Given the description of an element on the screen output the (x, y) to click on. 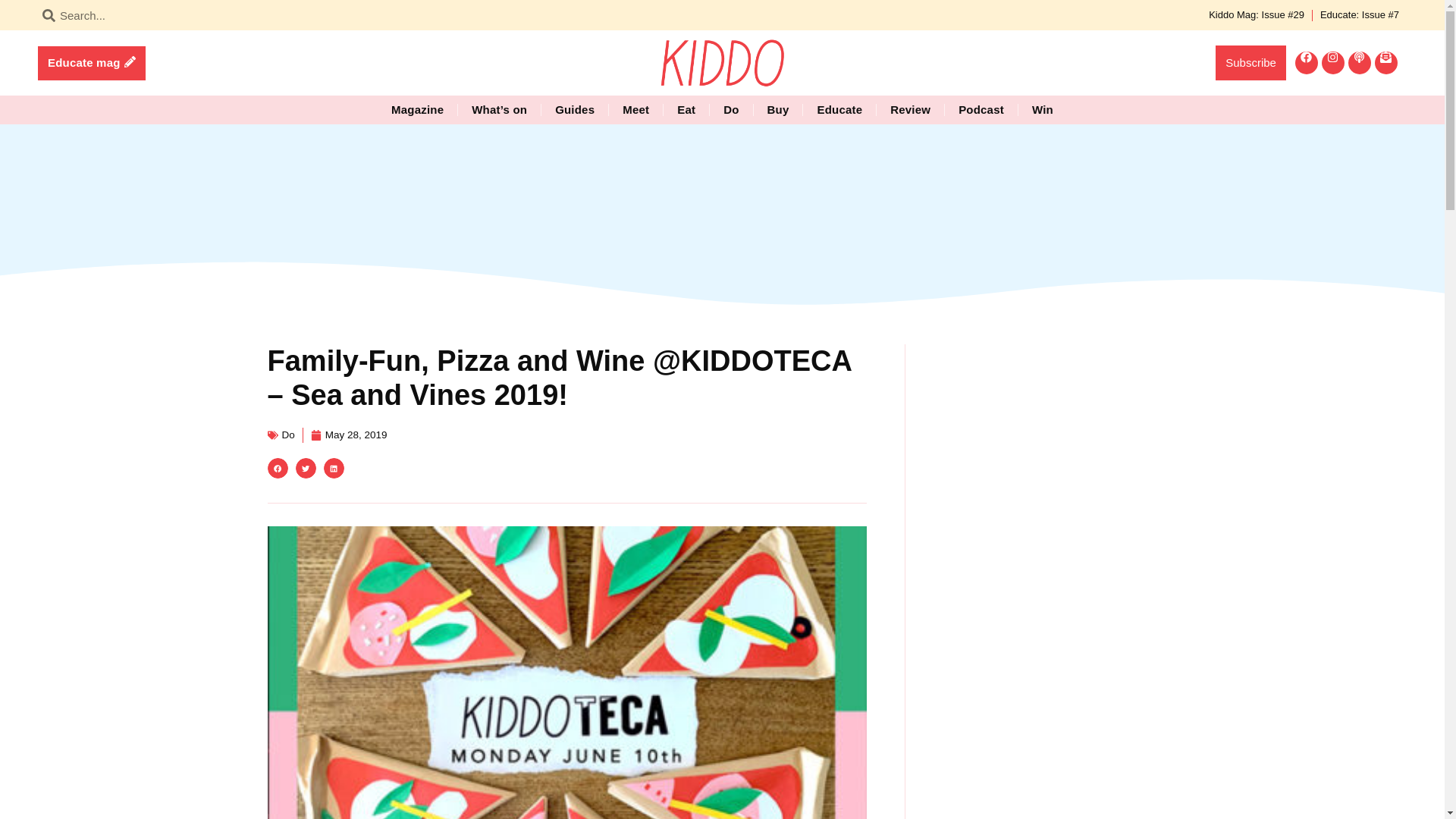
3rd party ad content (1056, 438)
3rd party ad content (1056, 786)
Educate mag (91, 62)
Subscribe (1250, 62)
Review (909, 109)
3rd party ad content (1056, 643)
3rd party ad content (721, 196)
Educate (838, 109)
Guides (574, 109)
Meet (636, 109)
